Given the description of an element on the screen output the (x, y) to click on. 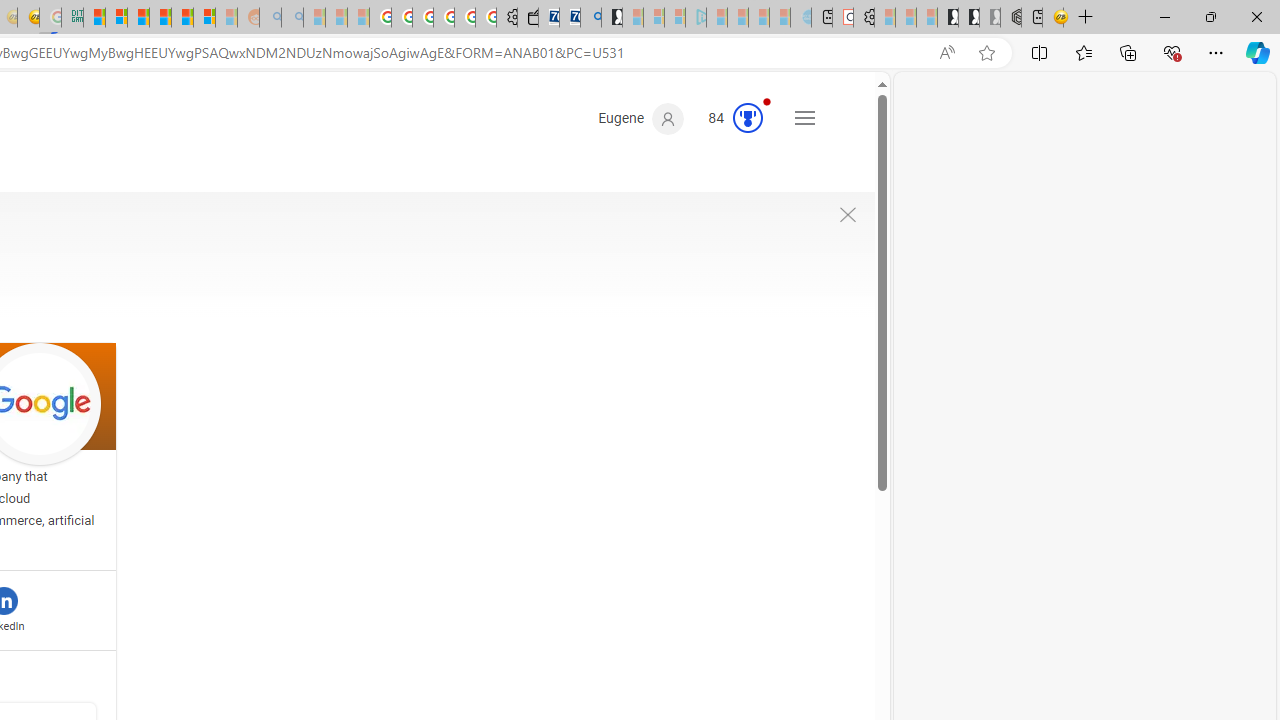
Expert Portfolios (160, 17)
Microsoft Rewards 84 (728, 119)
